Given the description of an element on the screen output the (x, y) to click on. 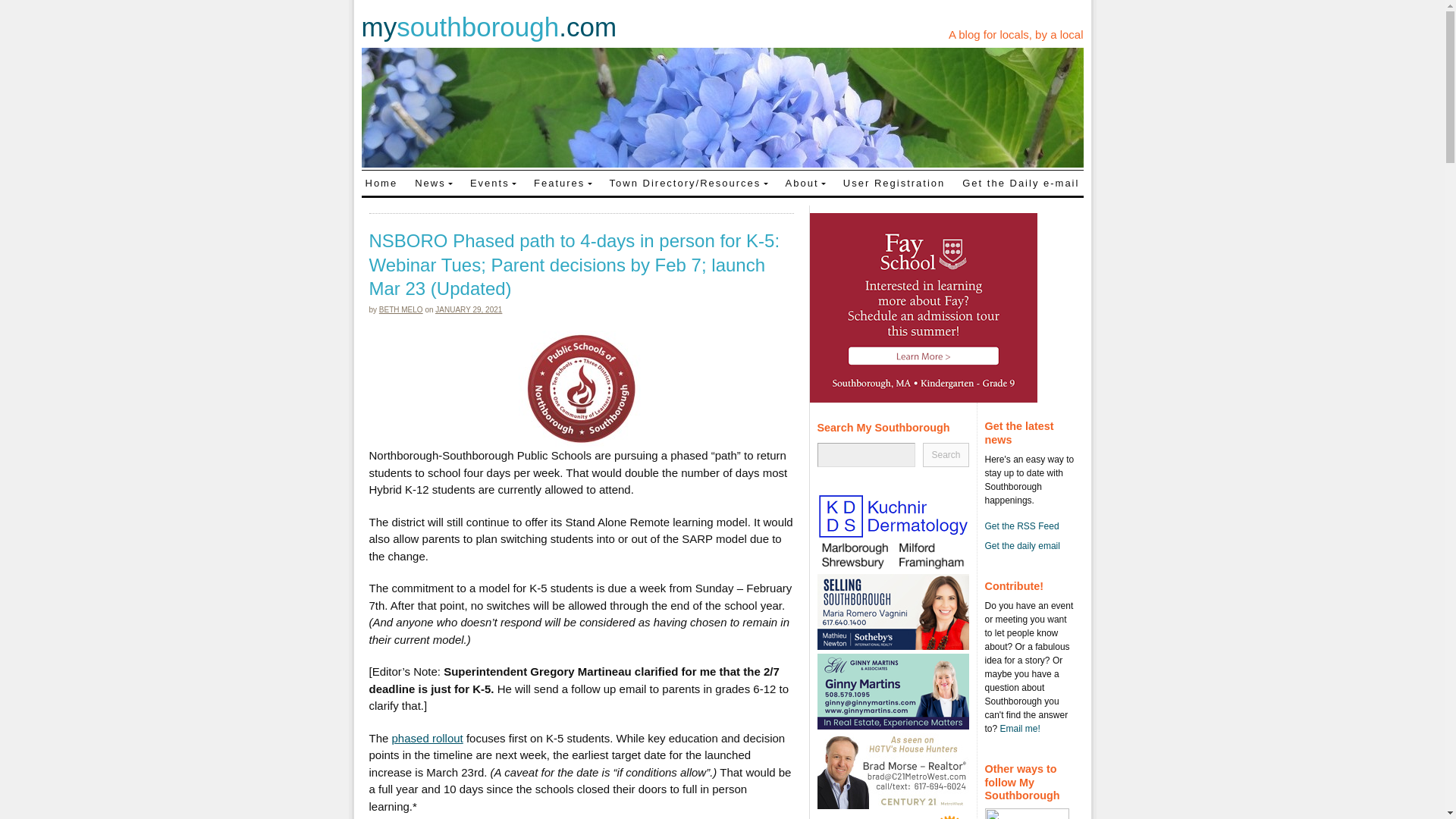
A blog for locals, by a local (1016, 33)
News (433, 182)
Home (381, 182)
mysouthborough.com (488, 26)
Events (492, 182)
Events (492, 182)
Features (562, 182)
Home (381, 182)
News (433, 182)
